Given the description of an element on the screen output the (x, y) to click on. 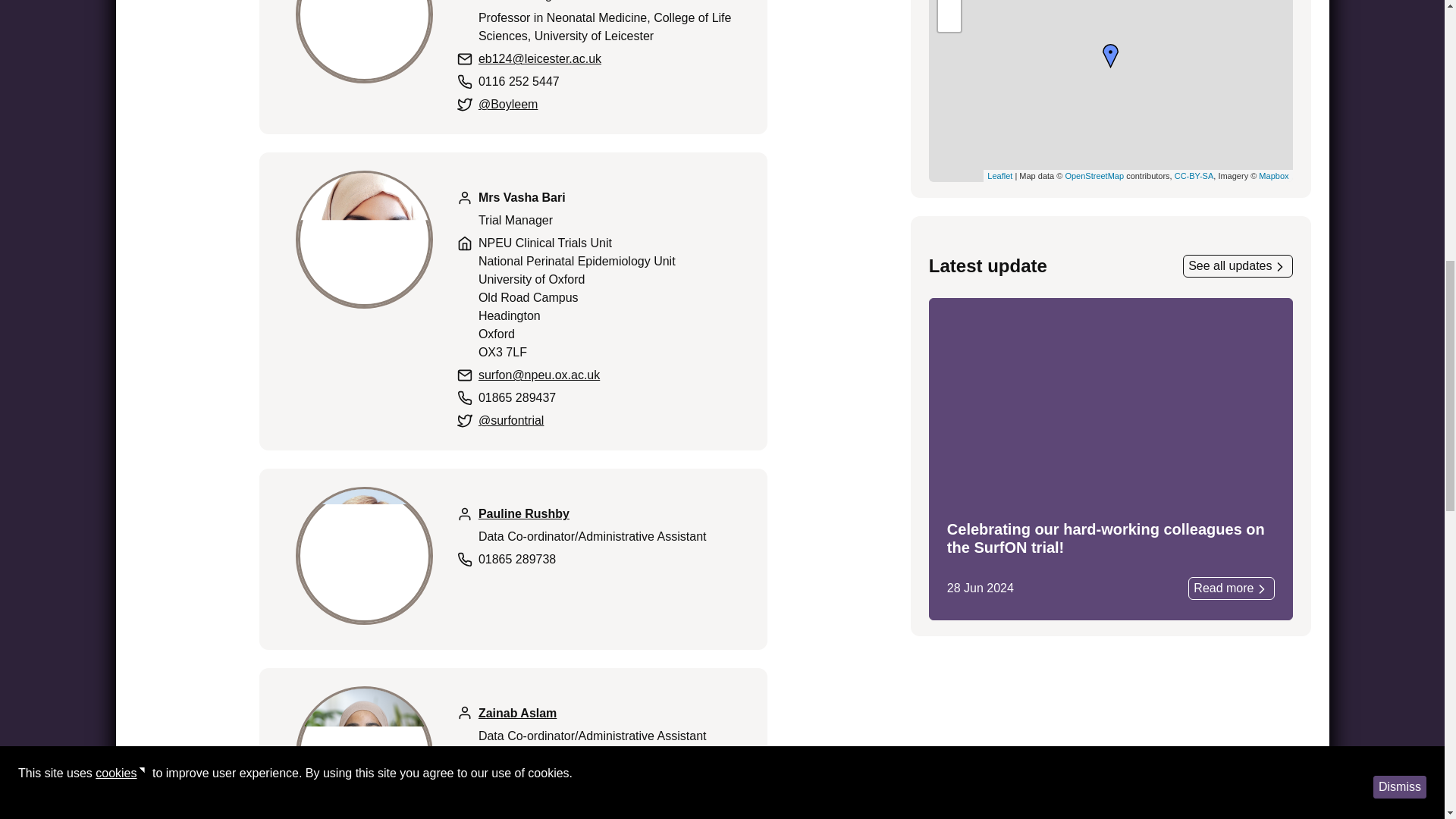
A JS library for interactive maps (999, 175)
Zainab Aslam (517, 712)
Full Screen (948, 20)
Zoom out (948, 4)
Pauline Rushby (524, 513)
